Given the description of an element on the screen output the (x, y) to click on. 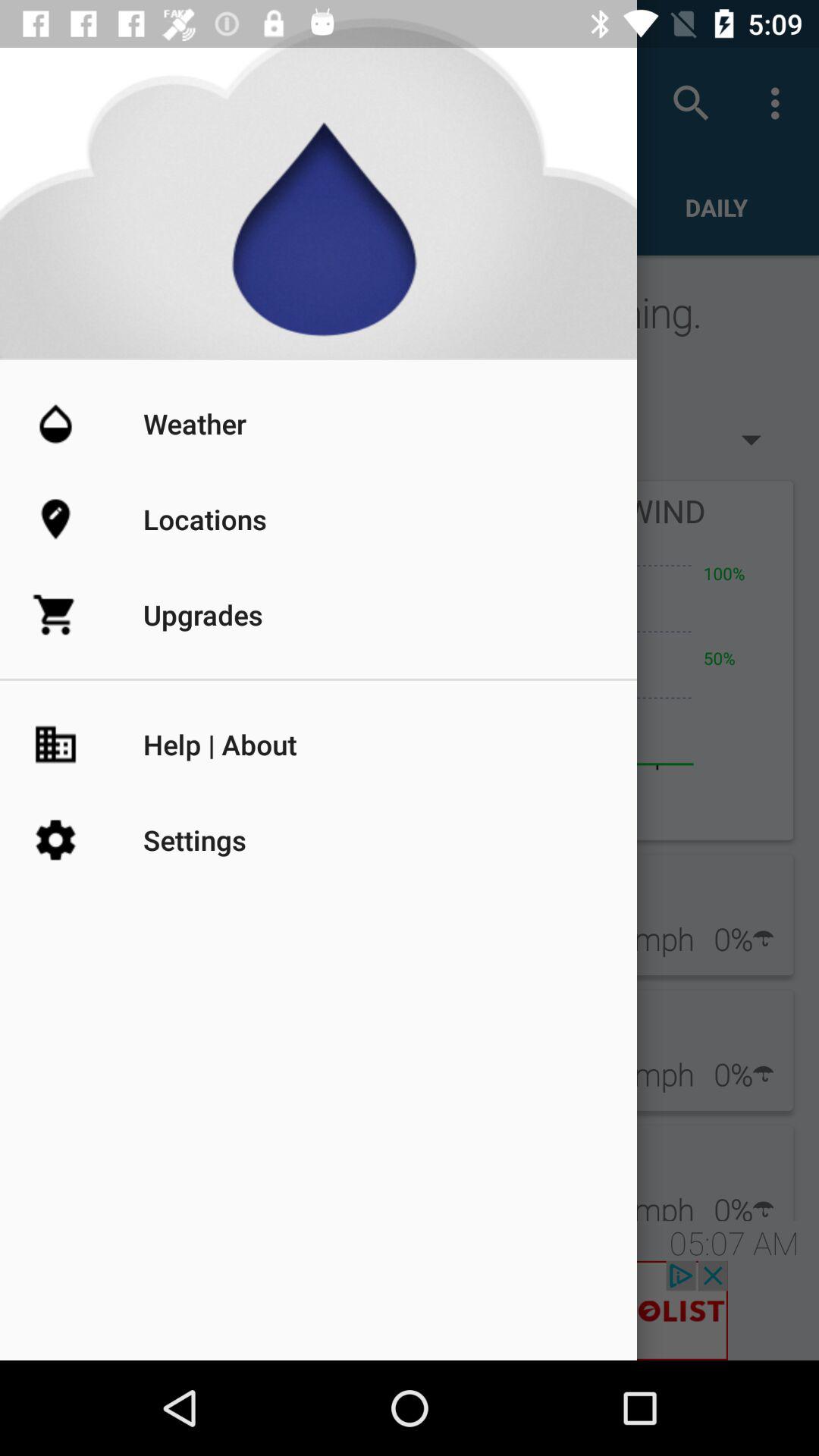
click on the icon left to help  about (87, 744)
